Given the description of an element on the screen output the (x, y) to click on. 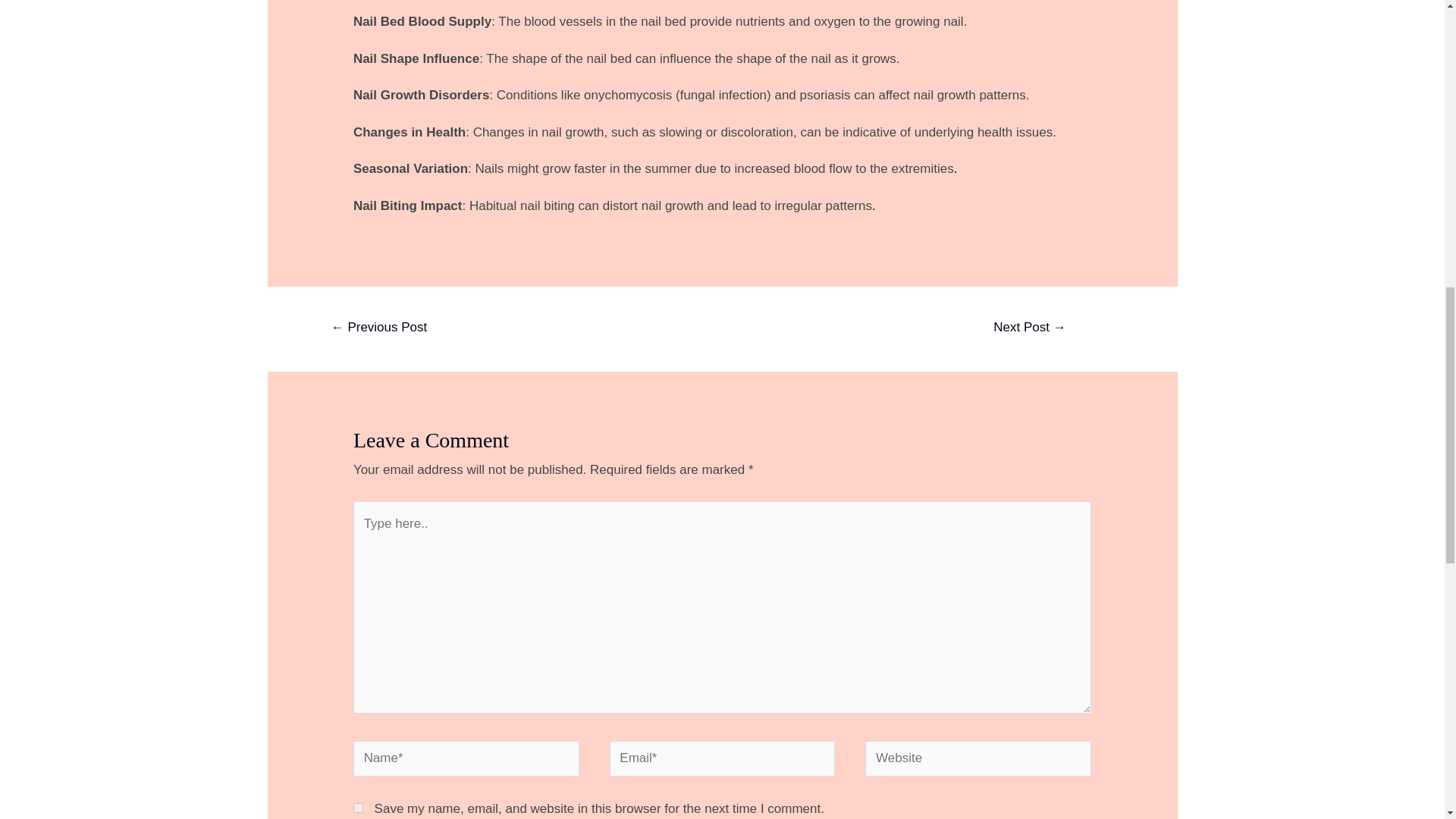
yes (357, 808)
"Step by Step: The Ultimate Guide to Gorgeous Toenail Care" (378, 328)
20 structural facts about human nails (1029, 328)
